Given the description of an element on the screen output the (x, y) to click on. 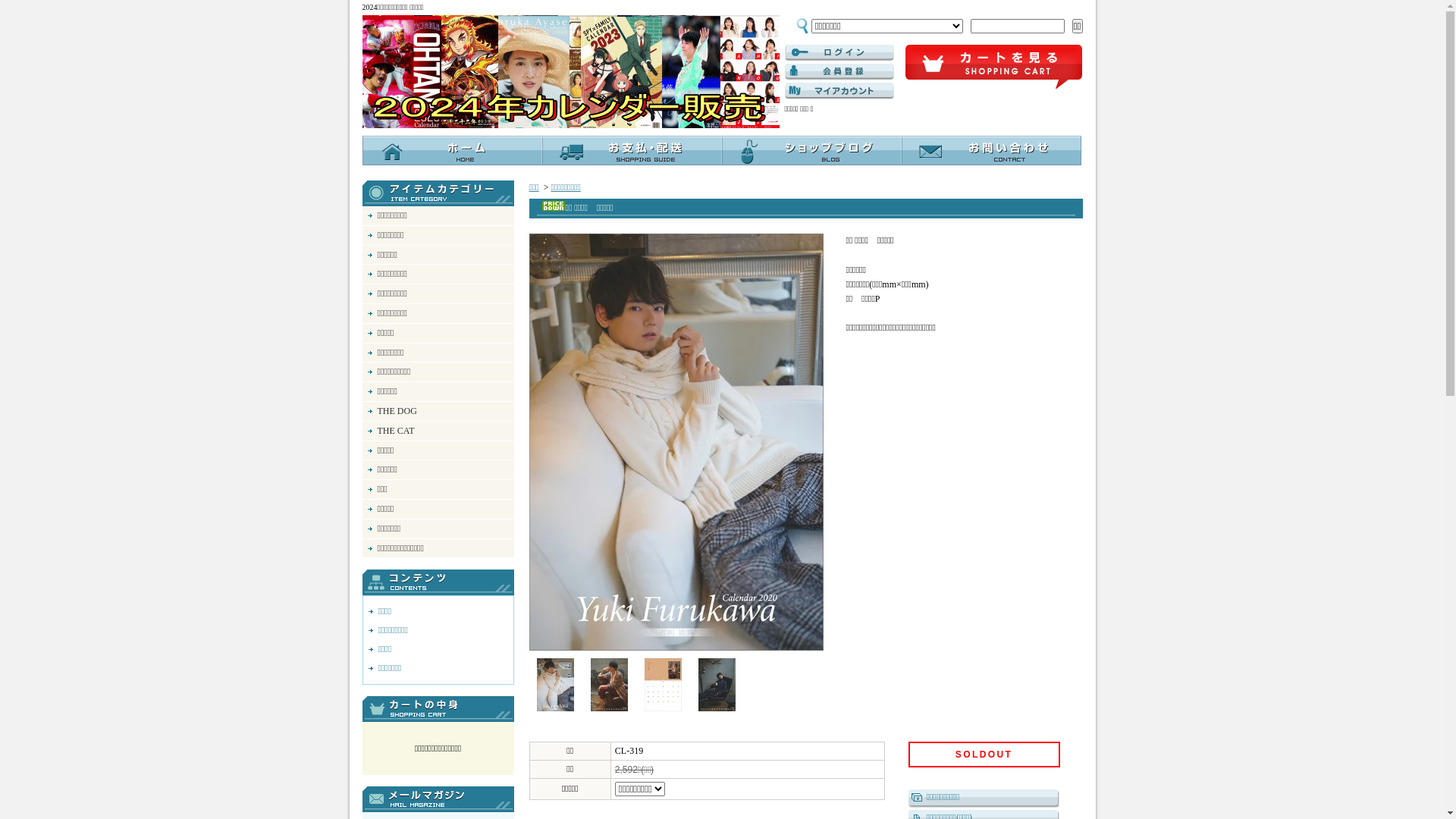
THE CAT Element type: text (438, 430)
THE DOG Element type: text (438, 410)
